Given the description of an element on the screen output the (x, y) to click on. 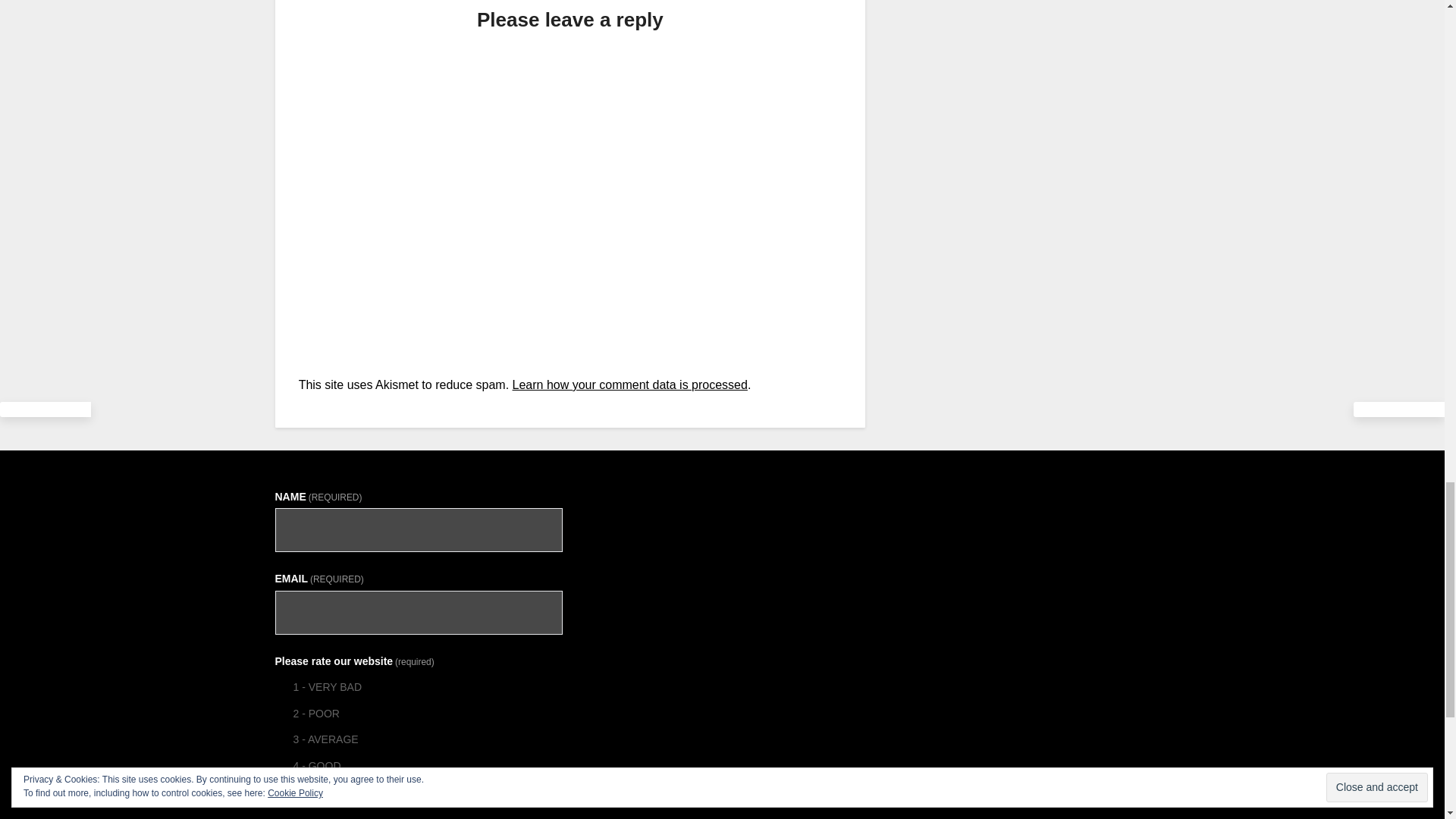
1 - Very Bad (280, 686)
4 - Good (280, 766)
3 - Average (280, 739)
5 - Excellent (280, 791)
2 - Poor (280, 712)
